Given the description of an element on the screen output the (x, y) to click on. 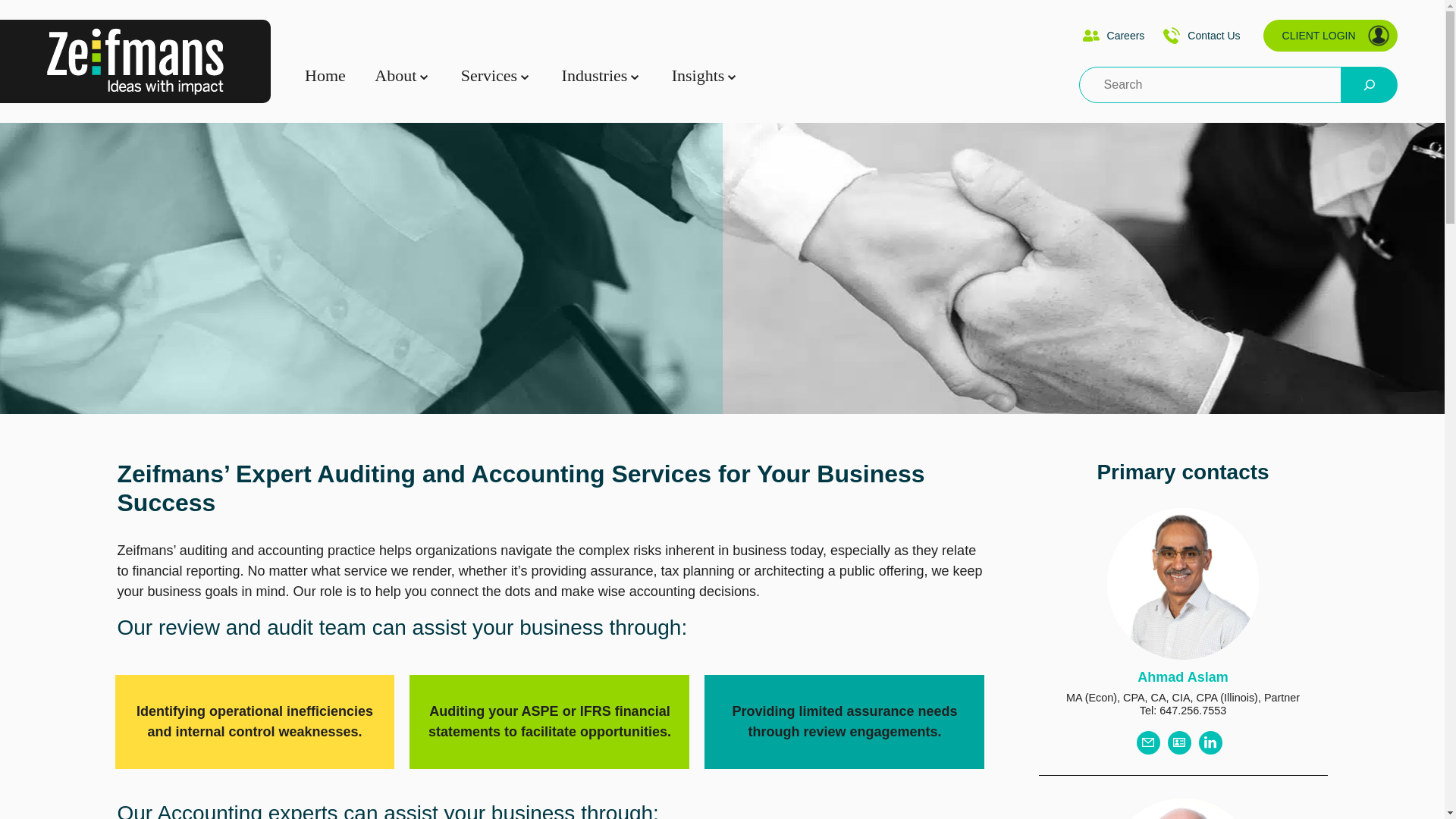
Insights (698, 75)
Home (325, 75)
Services (489, 75)
zeifmans-logo-2 (135, 61)
Industries (594, 75)
Ahmad Aslam (1182, 676)
About (395, 75)
